Given the description of an element on the screen output the (x, y) to click on. 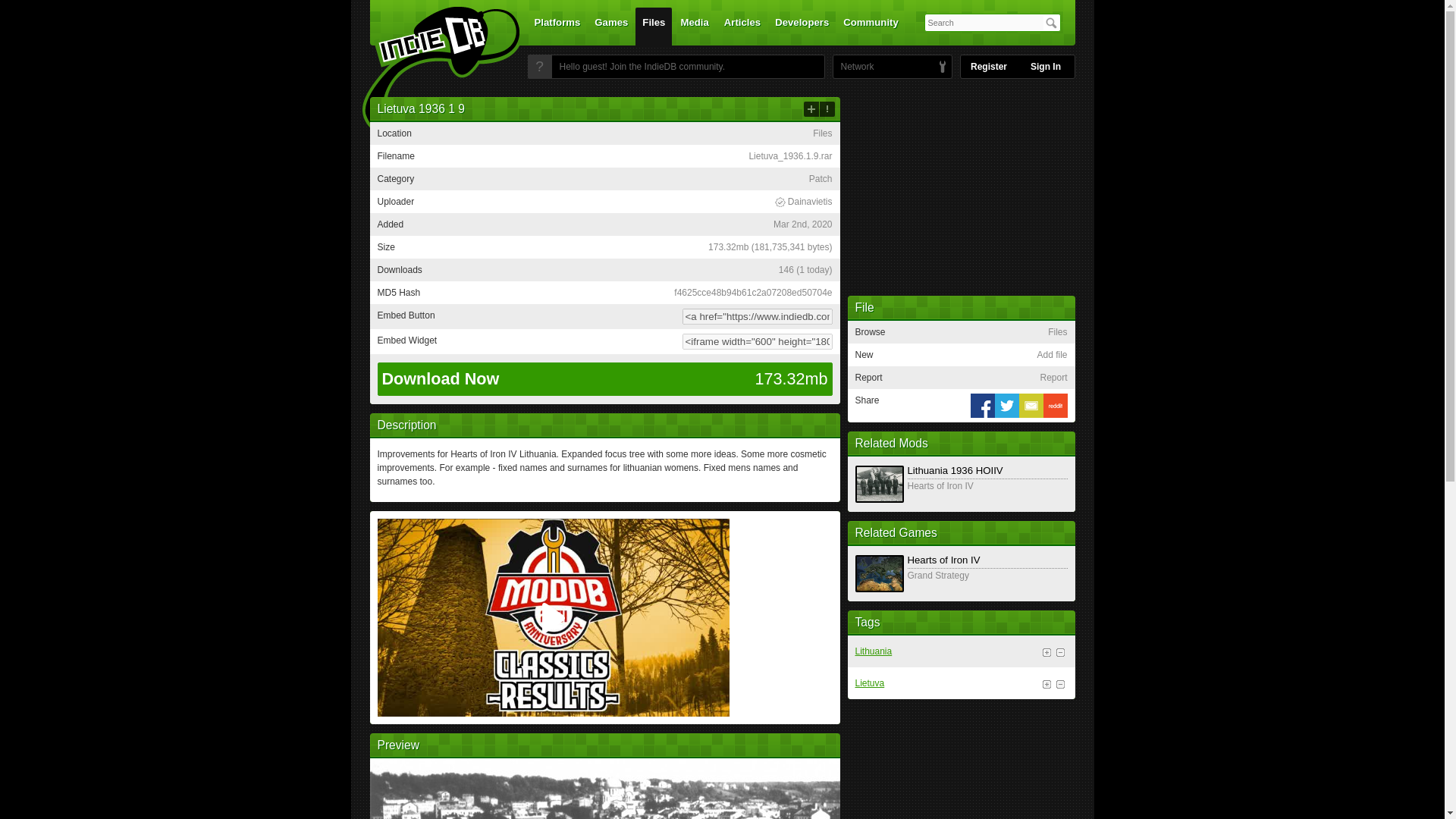
Share the file using this HTML (604, 316)
Platforms (557, 26)
Report (826, 109)
Articles (742, 26)
Files (652, 26)
Search IndieDB (1050, 22)
Lietuva 1936 1 9 Statistics (805, 269)
Home (430, 70)
Join IndieDB (539, 66)
Developers (801, 26)
